Given the description of an element on the screen output the (x, y) to click on. 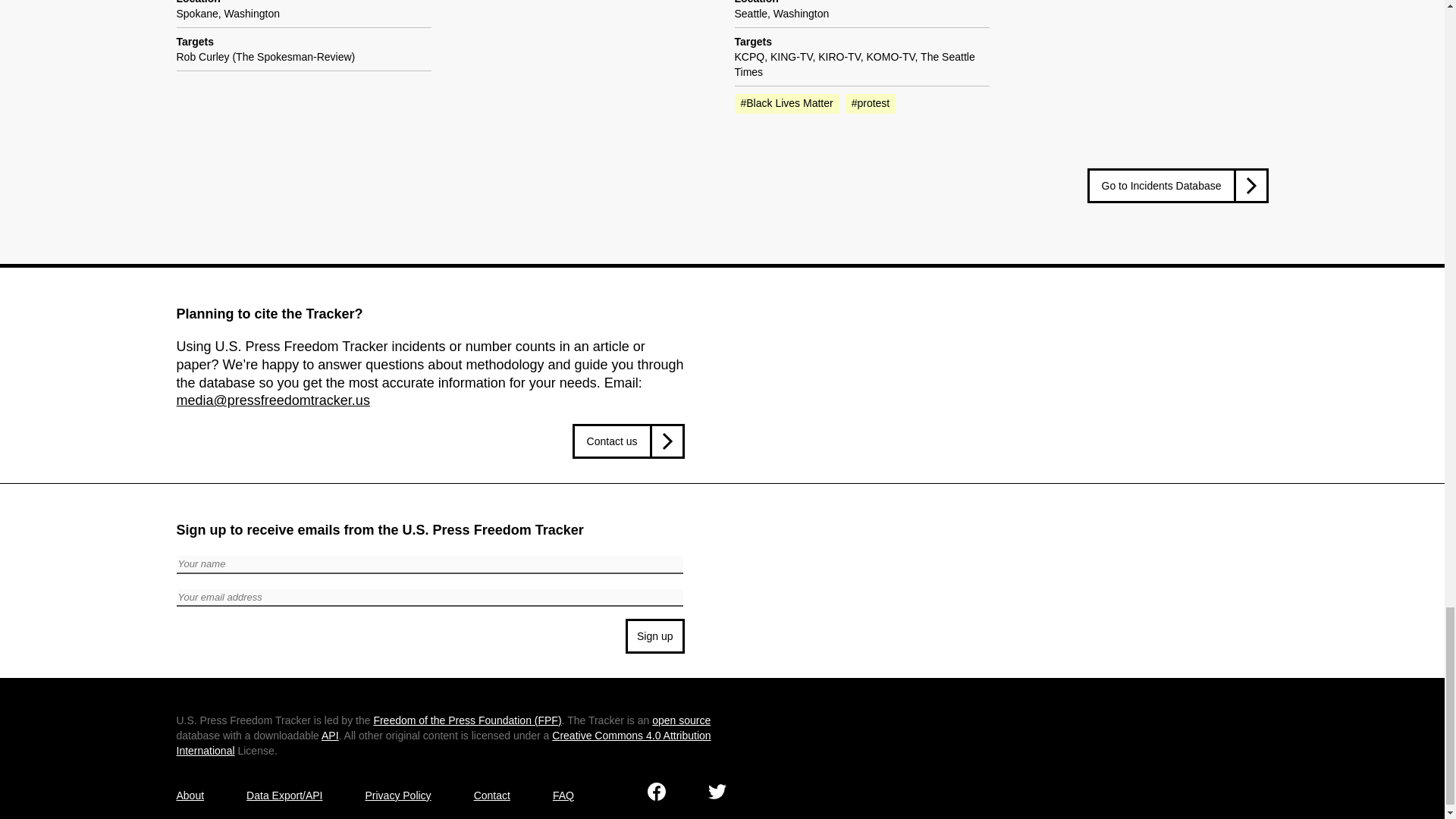
Sign up (655, 636)
Contact us (628, 441)
Go to Incidents Database (1177, 185)
